Given the description of an element on the screen output the (x, y) to click on. 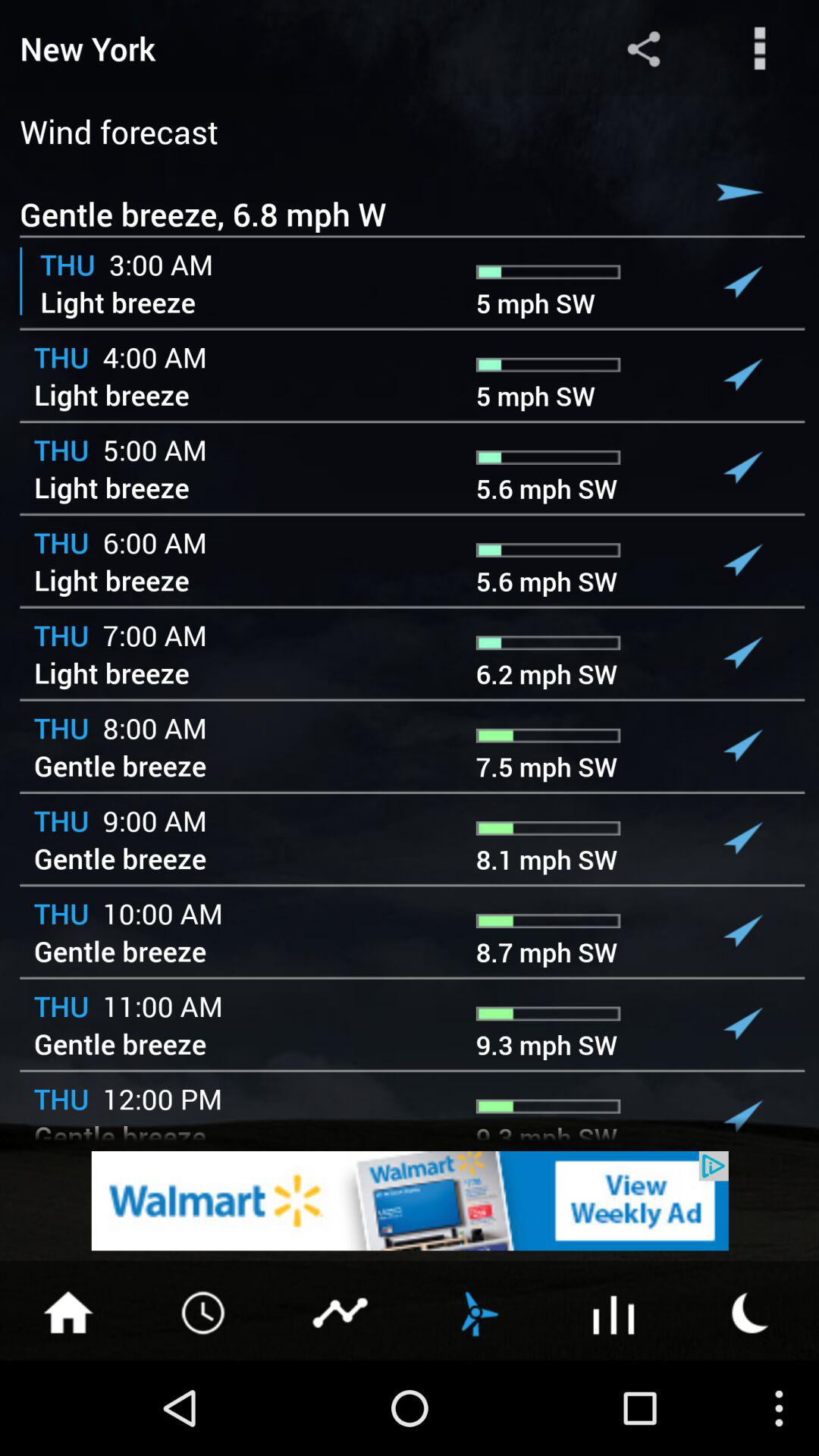
for time option (204, 1311)
